Given the description of an element on the screen output the (x, y) to click on. 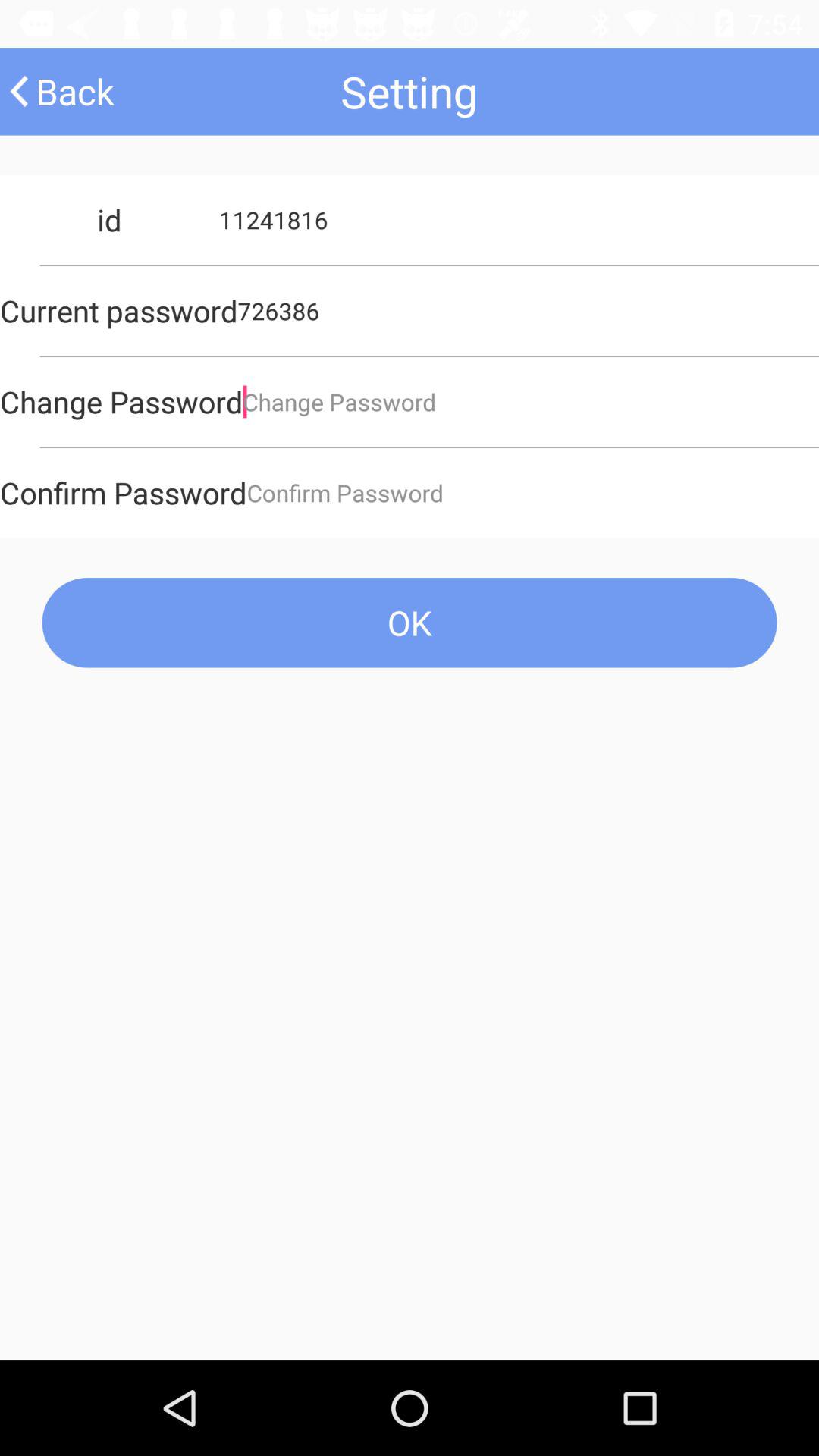
press the ok item (409, 622)
